Given the description of an element on the screen output the (x, y) to click on. 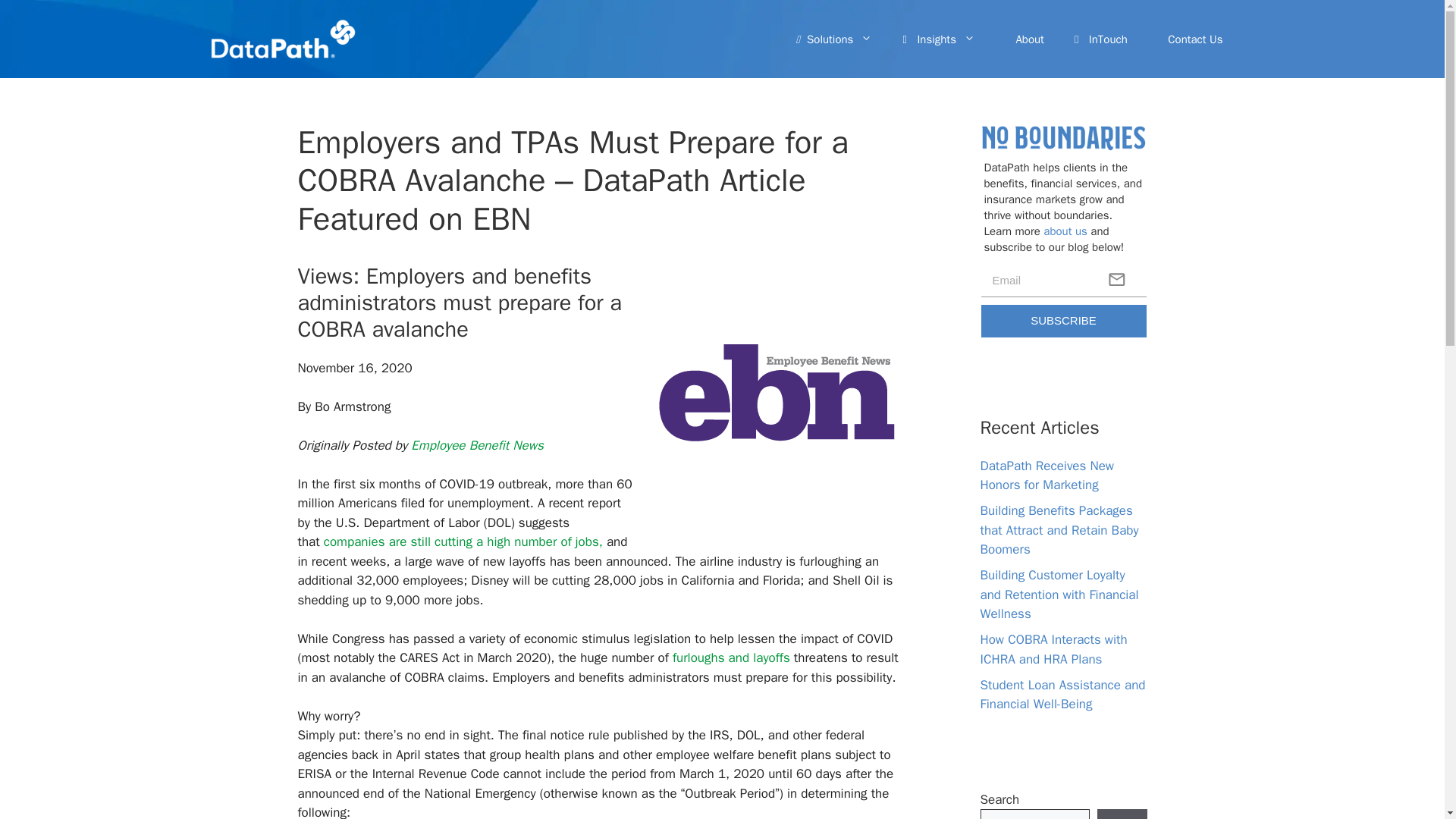
DataPath - No Boundaries (1063, 137)
   Contact Us (1190, 39)
about us (1065, 231)
furloughs and layoffs (731, 657)
   Insights (938, 39)
DataPath Receives New Honors for Marketing (1046, 475)
companies are still cutting a high number of jobs,  (465, 541)
  Solutions (834, 39)
Employee Benefit News (476, 445)
SUBSCRIBE (1064, 320)
   InTouch (1100, 39)
How COBRA Interacts with ICHRA and HRA Plans (1052, 649)
   About (1024, 39)
